Given the description of an element on the screen output the (x, y) to click on. 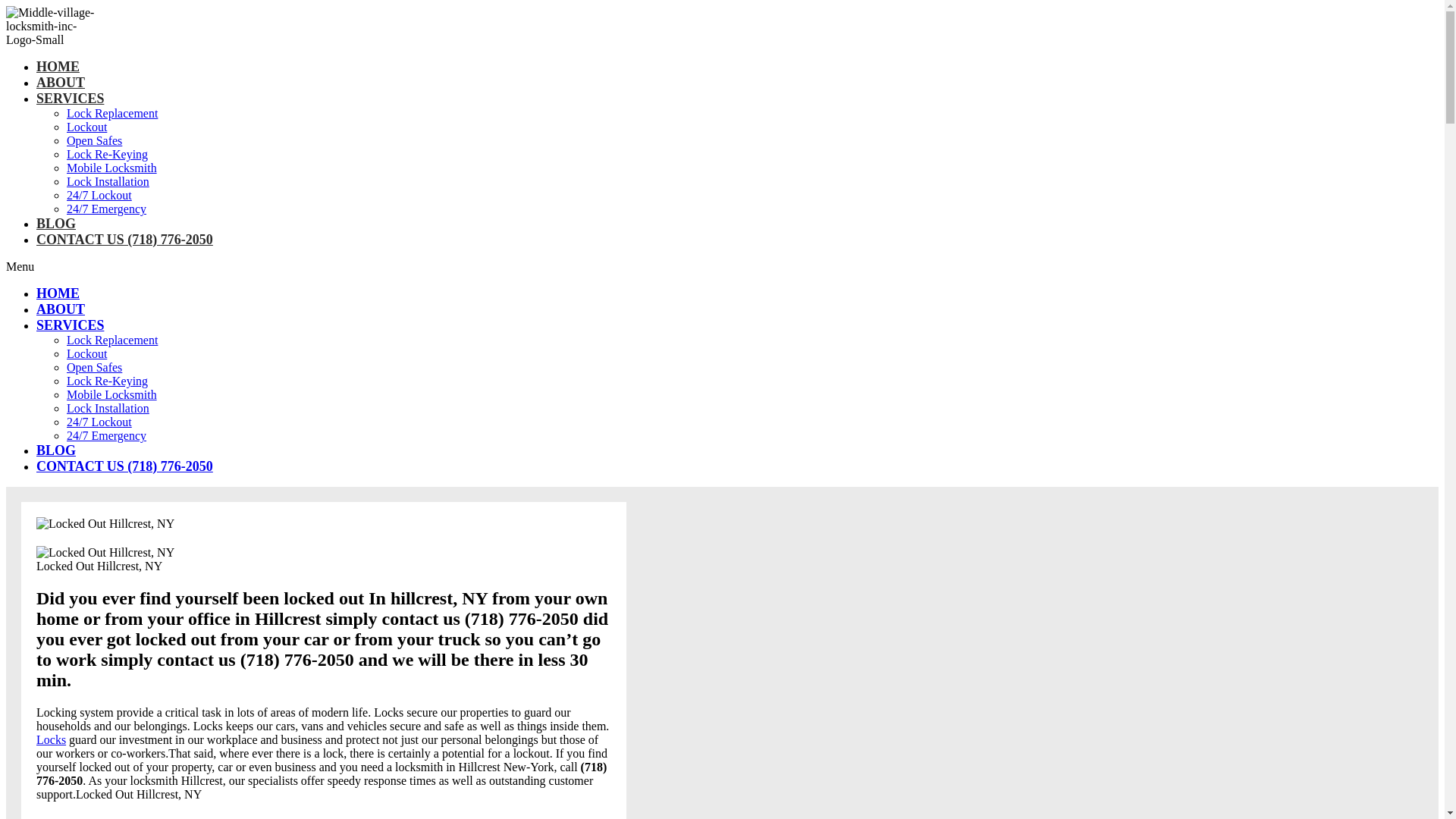
SERVICES Element type: text (69, 324)
Skip to content Element type: text (5, 5)
24/7 Emergency Element type: text (106, 435)
Lock Re-Keying Element type: text (106, 380)
24/7 Lockout Element type: text (98, 194)
ABOUT Element type: text (60, 82)
CONTACT US (718) 776-2050 Element type: text (124, 465)
Open Safes Element type: text (94, 140)
Lockout Element type: text (86, 126)
BLOG Element type: text (55, 450)
Lock Installation Element type: text (107, 407)
24/7 Emergency Element type: text (106, 208)
Lock Replacement Element type: text (111, 112)
Open Safes Element type: text (94, 366)
Locks Element type: text (50, 739)
Mobile Locksmith Element type: text (111, 167)
24/7 Lockout Element type: text (98, 421)
HOME Element type: text (57, 293)
Lock Re-Keying Element type: text (106, 153)
Lock Replacement Element type: text (111, 339)
HOME Element type: text (57, 66)
Lockout Element type: text (86, 353)
BLOG Element type: text (55, 223)
ABOUT Element type: text (60, 308)
CONTACT US (718) 776-2050 Element type: text (124, 239)
Lock Installation Element type: text (107, 181)
Mobile Locksmith Element type: text (111, 394)
SERVICES Element type: text (69, 98)
